Given the description of an element on the screen output the (x, y) to click on. 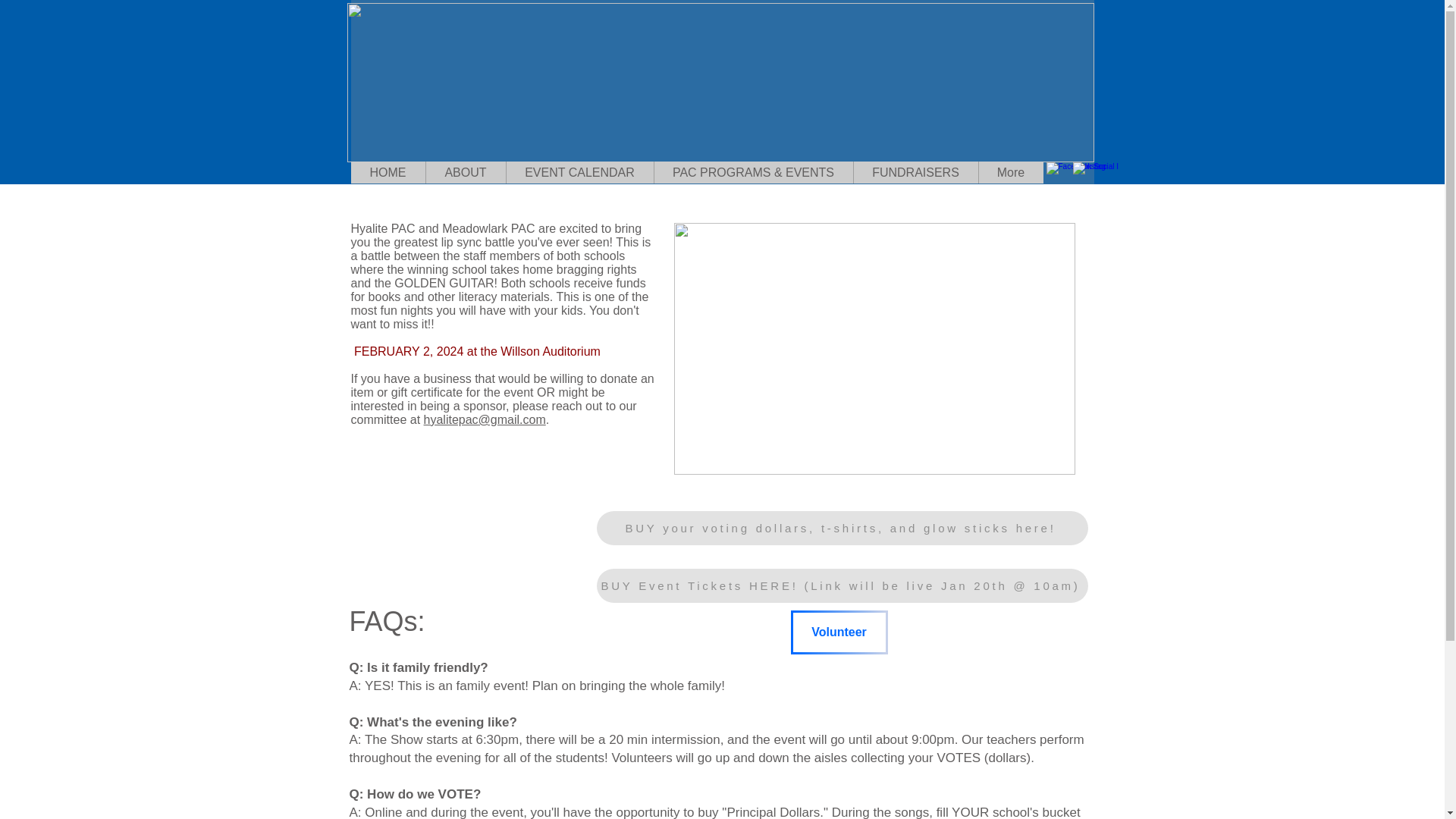
EVENT CALENDAR (578, 172)
Cream Simple Illustrated Studio Music Po (873, 348)
ABOUT (465, 172)
FUNDRAISERS (913, 172)
BUY your voting dollars, t-shirts, and glow sticks here! (841, 528)
Volunteer (838, 632)
HOME (387, 172)
